Given the description of an element on the screen output the (x, y) to click on. 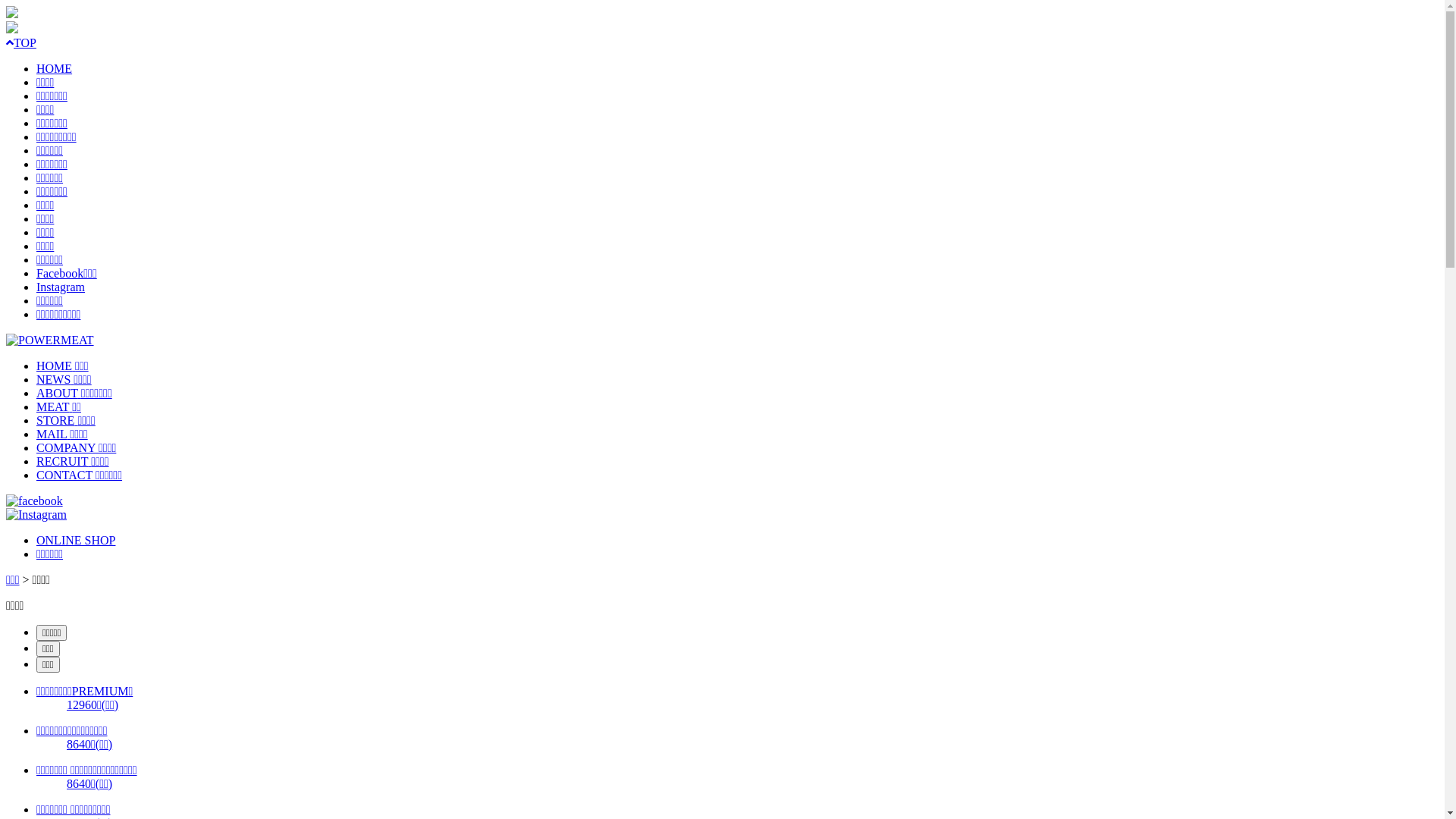
Instagram Element type: text (60, 286)
ONLINE SHOP Element type: text (75, 539)
TOP Element type: text (21, 42)
HOME Element type: text (54, 68)
